Given the description of an element on the screen output the (x, y) to click on. 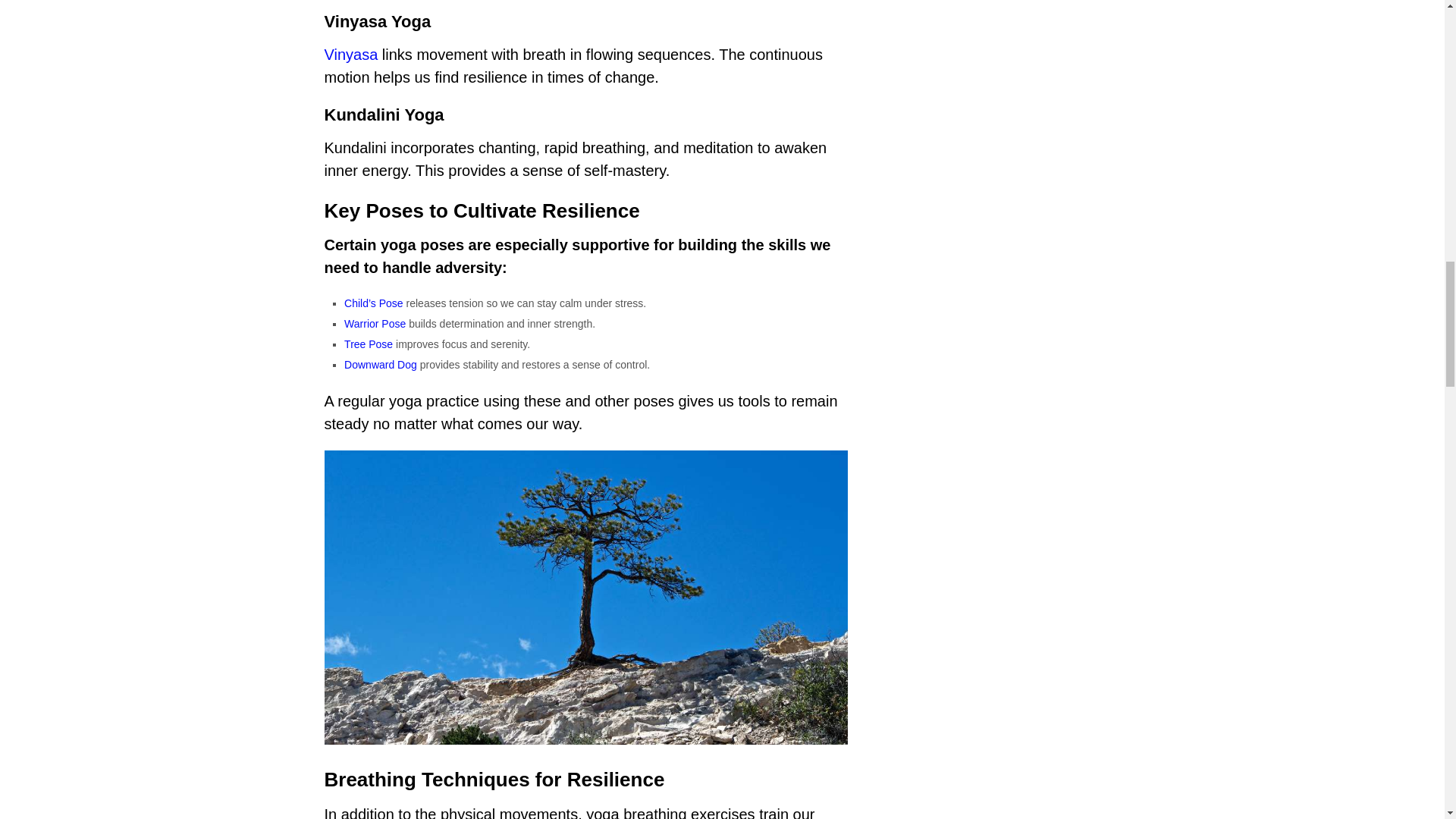
Downward Dog (379, 364)
Tree Pose (368, 344)
Vinyasa (351, 54)
Warrior Pose (374, 323)
